Given the description of an element on the screen output the (x, y) to click on. 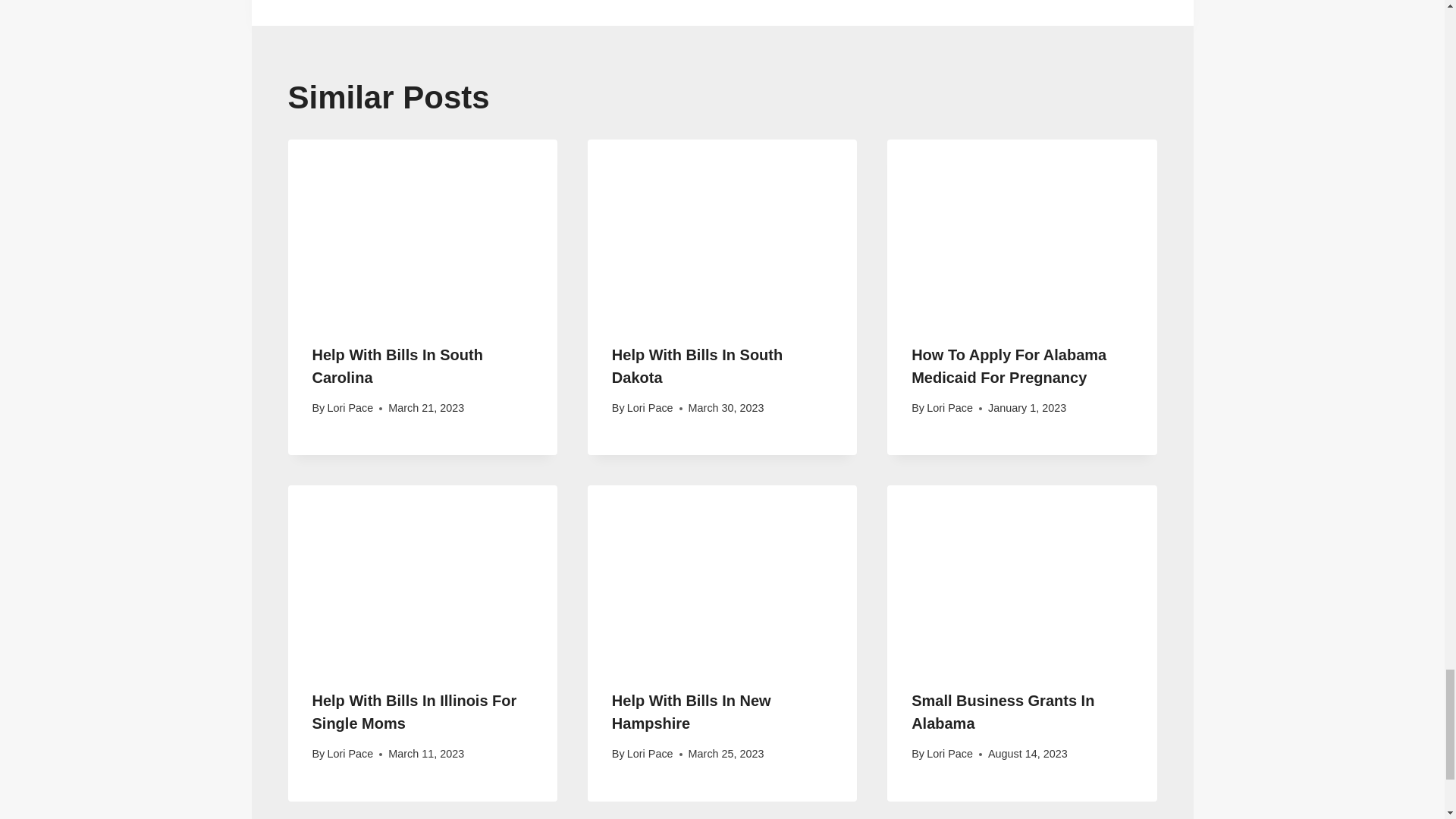
Help With Bills In South Dakota 5 (722, 229)
Small Business Grants In Alabama 9 (1021, 575)
Help With Bills In Illinois For Single Moms 7 (422, 575)
Help With Bills In New Hampshire 8 (722, 575)
How To Apply For Alabama Medicaid For Pregnancy 6 (1021, 229)
Help With Bills In South Carolina 4 (422, 229)
